Given the description of an element on the screen output the (x, y) to click on. 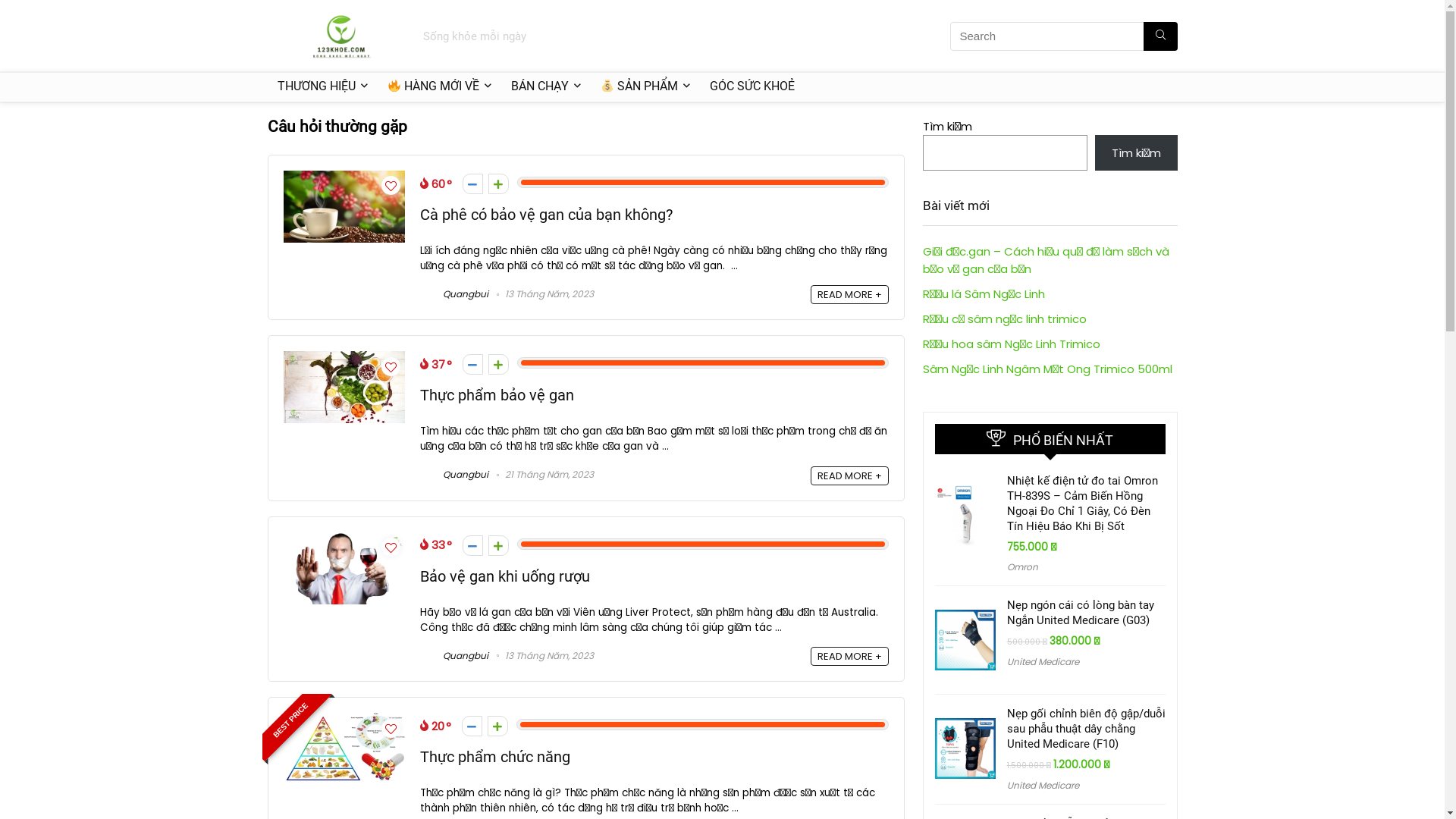
READ MORE + Element type: text (848, 294)
READ MORE + Element type: text (848, 475)
Quangbui Element type: text (454, 655)
Quangbui Element type: text (454, 293)
United Medicare Element type: text (1043, 784)
Vote up Element type: hover (498, 364)
Quangbui Element type: text (454, 473)
READ MORE + Element type: text (848, 655)
Vote down Element type: hover (472, 545)
Vote up Element type: hover (498, 183)
Omron Element type: text (1022, 566)
Vote down Element type: hover (472, 364)
Vote up Element type: hover (496, 725)
United Medicare Element type: text (1043, 661)
Vote down Element type: hover (472, 183)
Vote down Element type: hover (471, 725)
Vote up Element type: hover (498, 545)
